Given the description of an element on the screen output the (x, y) to click on. 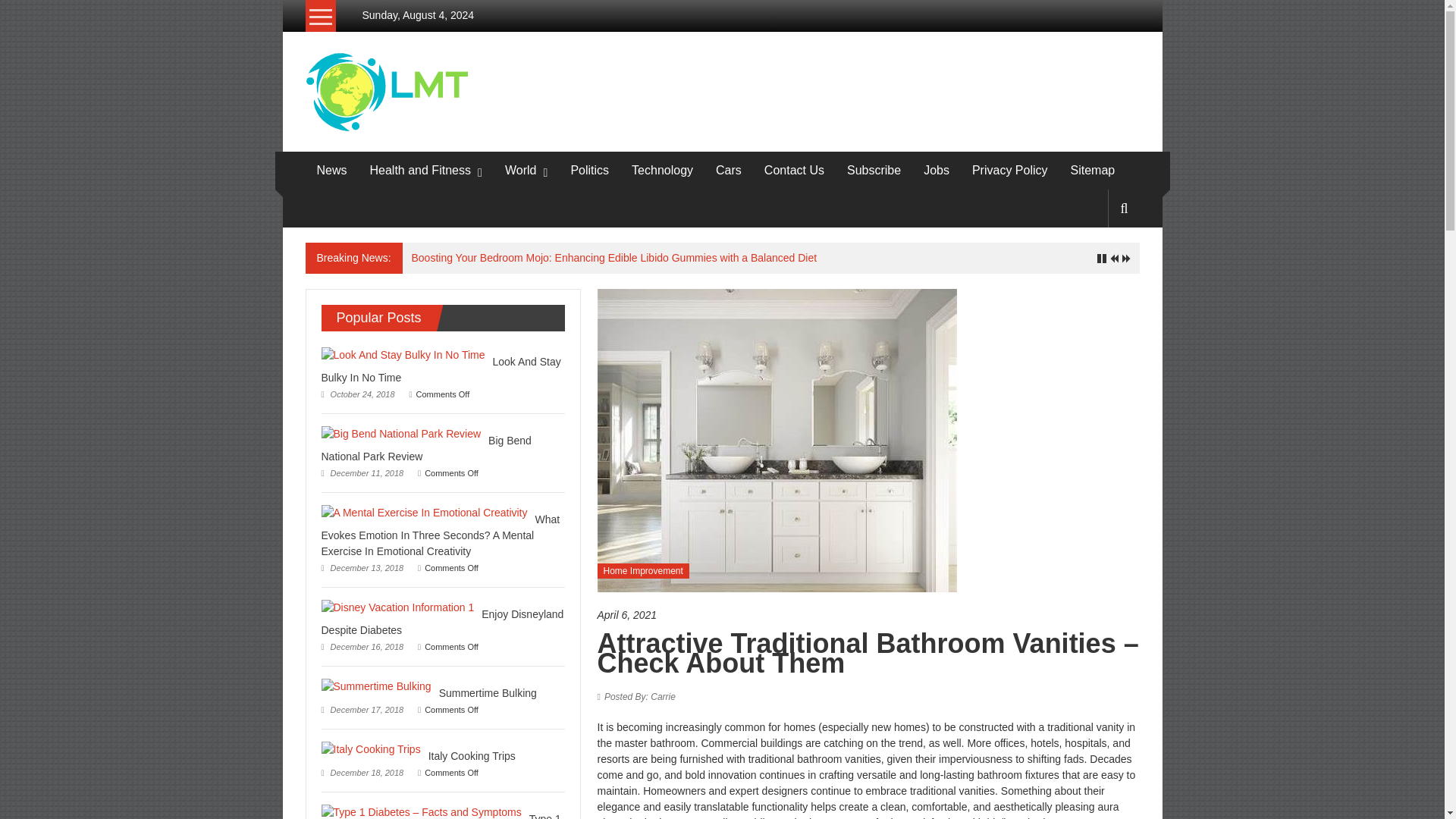
Subscribe (874, 170)
Contact Us (794, 170)
Sitemap (1092, 170)
Health and Fitness (419, 170)
5:38 am (868, 615)
Carrie (639, 696)
Home Improvement (642, 570)
Privacy Policy (1010, 170)
April 6, 2021 (868, 615)
Politics (589, 170)
Posted By: Carrie (639, 696)
Technology (662, 170)
